Given the description of an element on the screen output the (x, y) to click on. 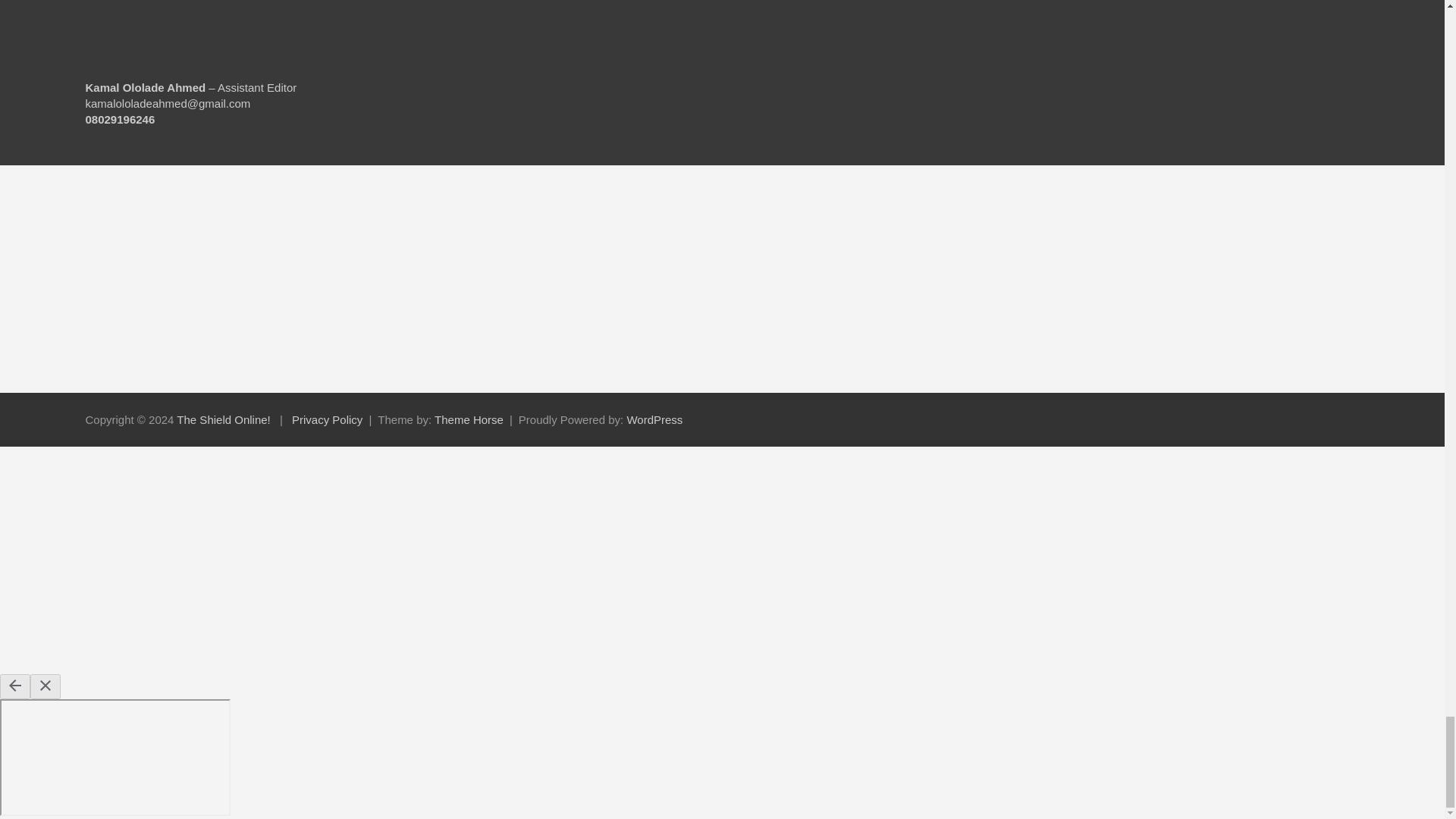
Theme Horse (468, 419)
The Shield Online! (222, 419)
